Given the description of an element on the screen output the (x, y) to click on. 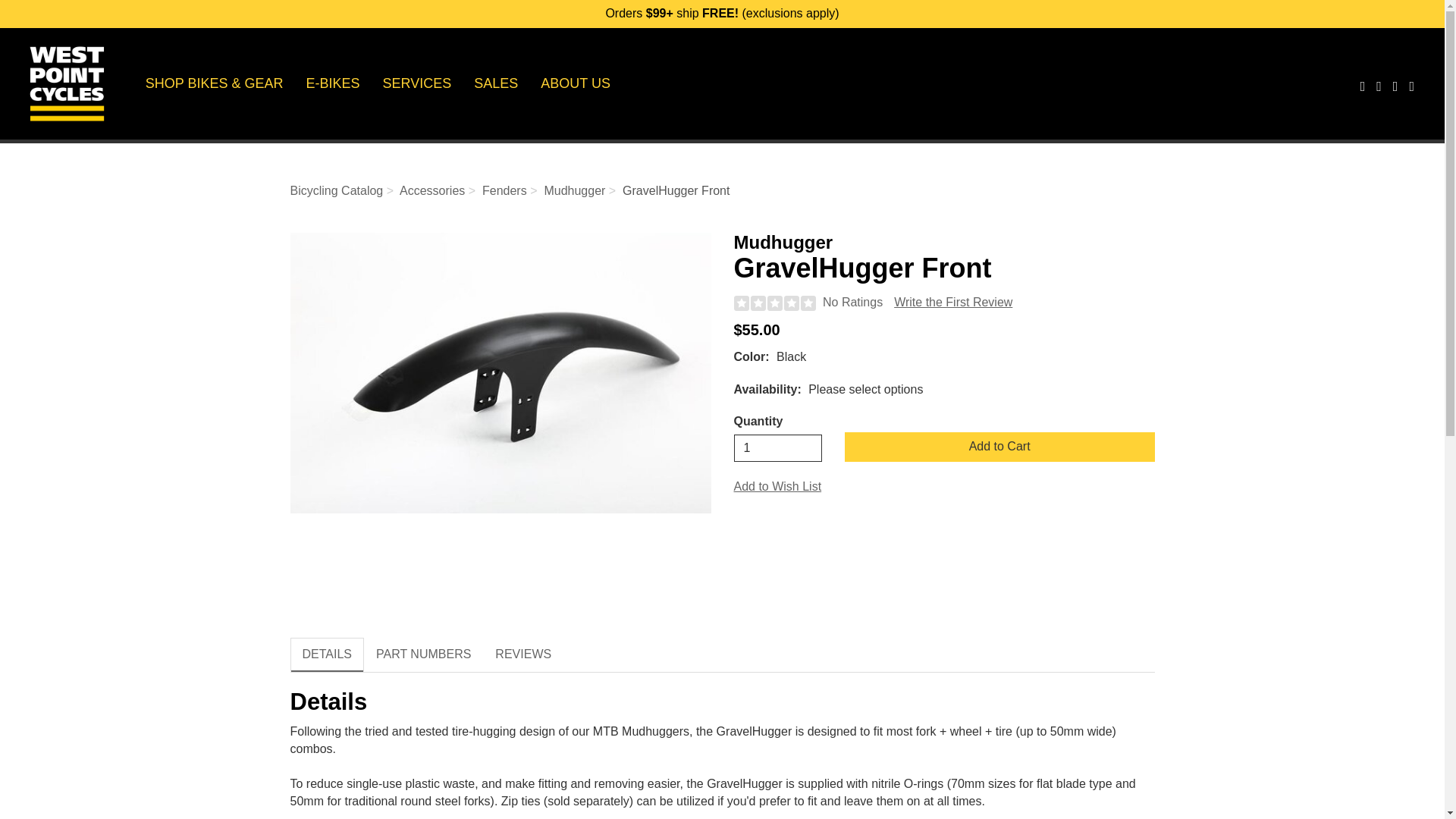
Mudhugger GravelHugger Front (499, 372)
1 (777, 447)
West Point Cycles Home Page (67, 83)
